Given the description of an element on the screen output the (x, y) to click on. 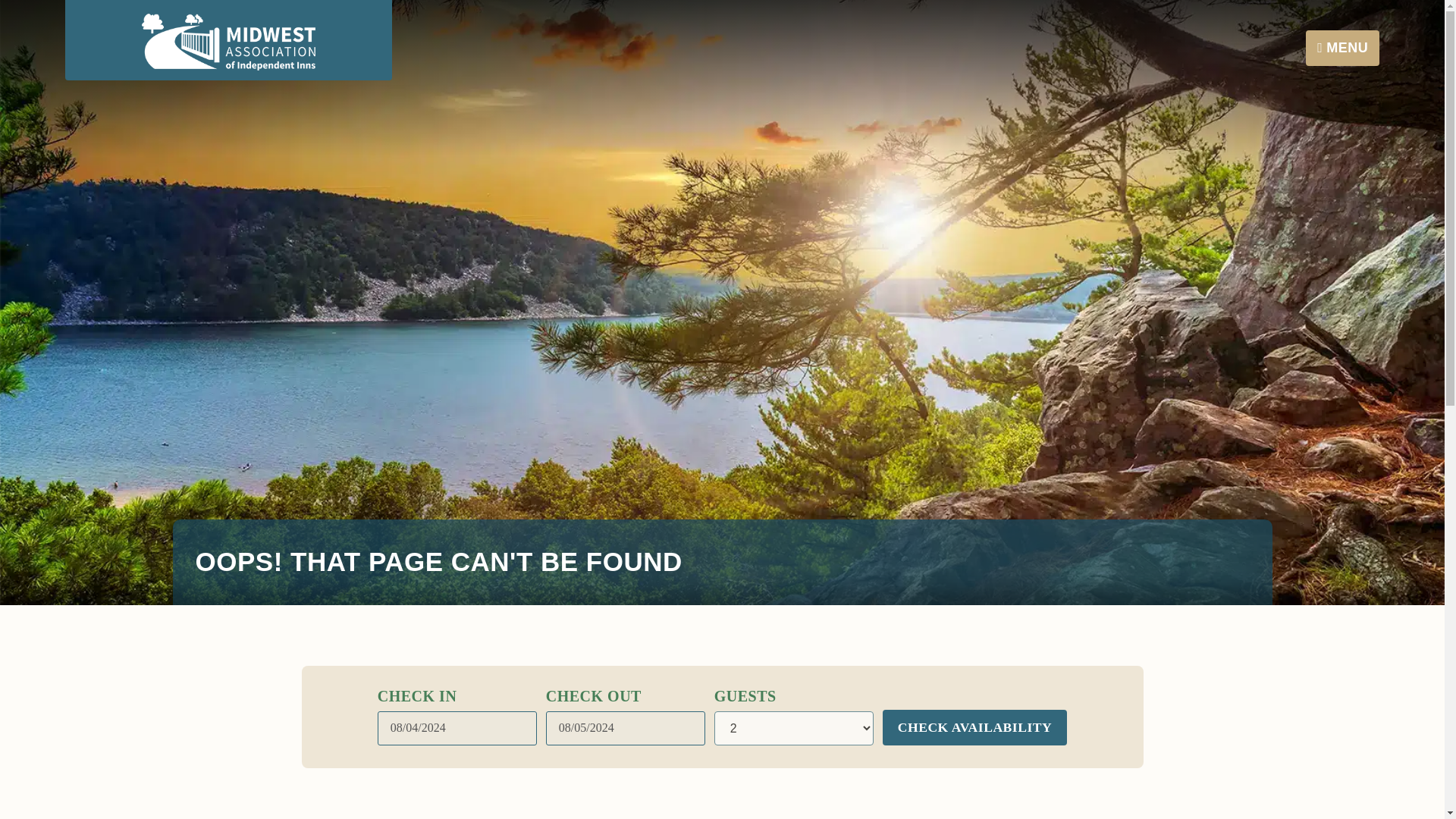
MENU (1342, 48)
